Given the description of an element on the screen output the (x, y) to click on. 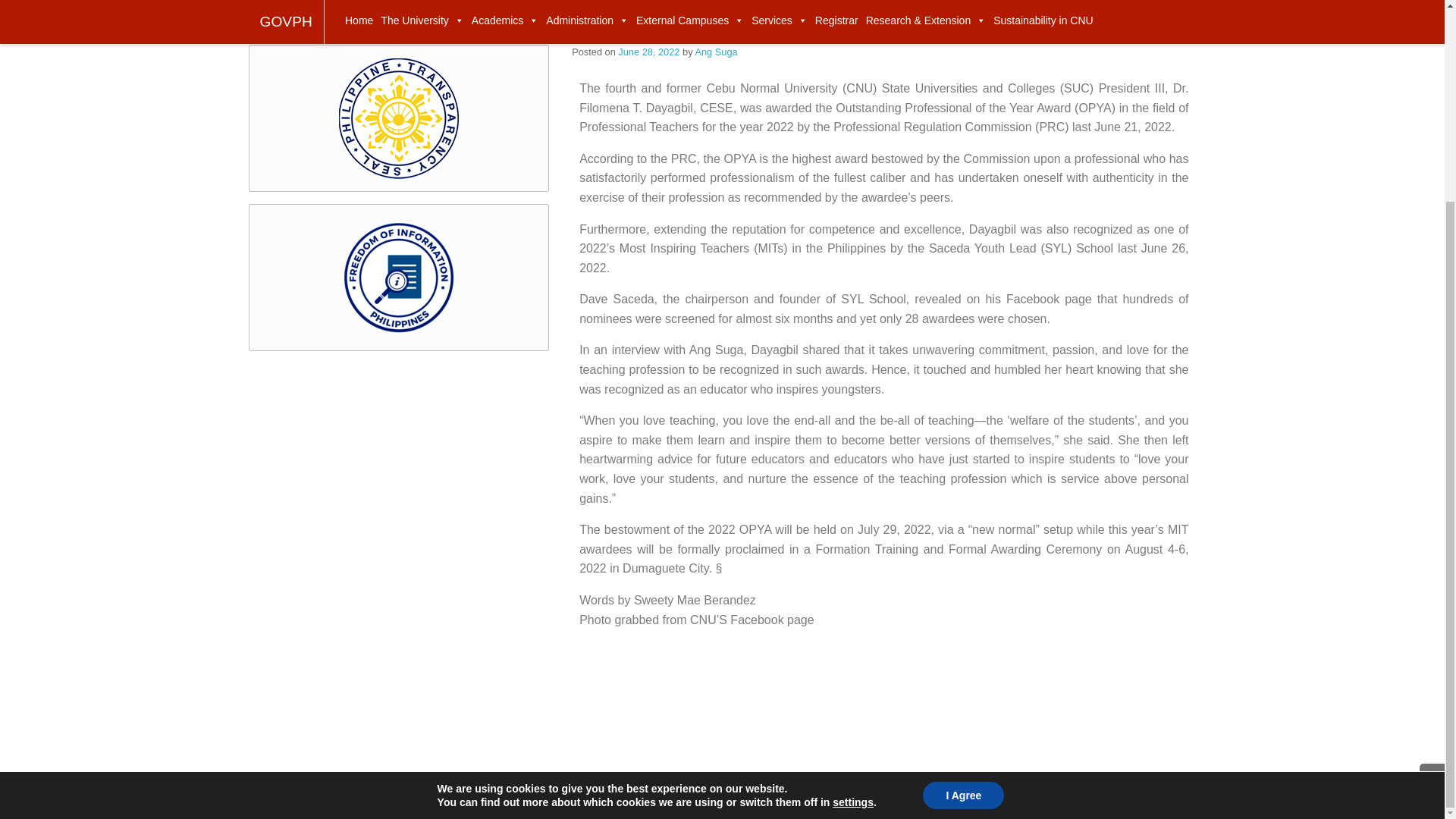
Transparency Seal (398, 118)
20:43 (649, 51)
View all posts by Ang Suga (715, 51)
Freedom of Information (398, 277)
